Given the description of an element on the screen output the (x, y) to click on. 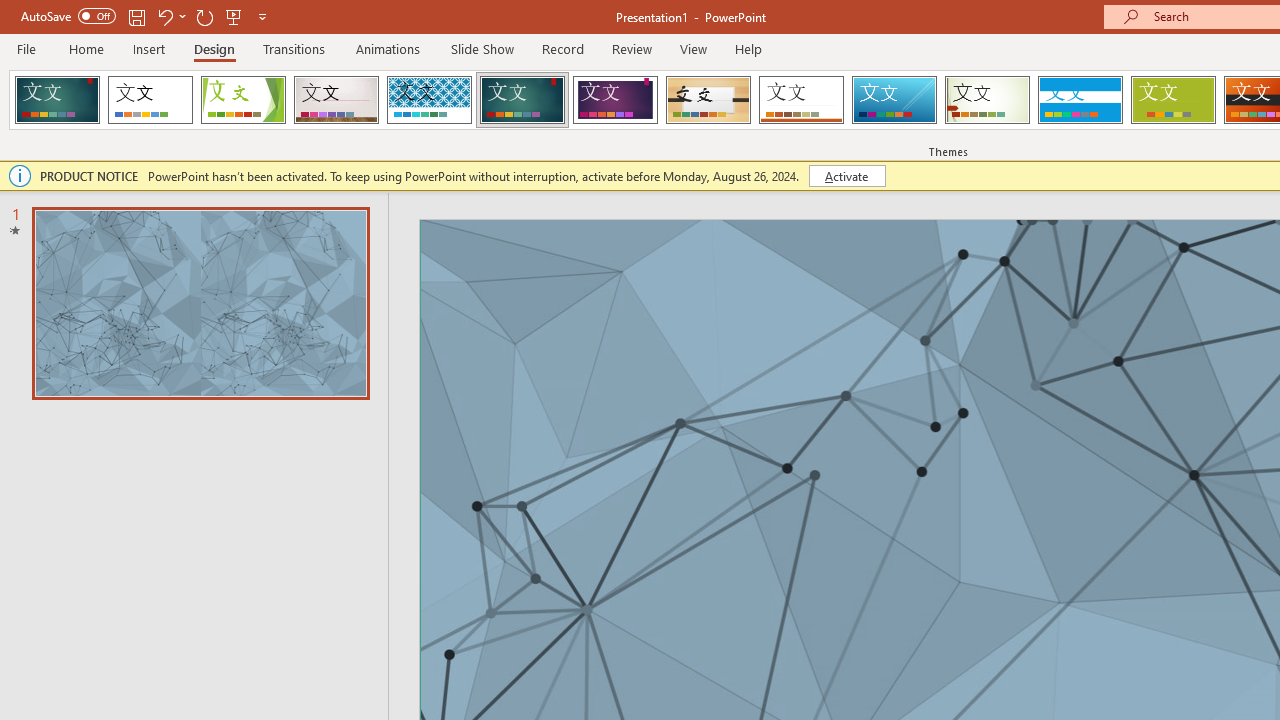
Redo (204, 15)
Customize Quick Access Toolbar (262, 15)
Ion Boardroom (615, 100)
Office Theme (150, 100)
Ion (522, 100)
Facet (243, 100)
